Given the description of an element on the screen output the (x, y) to click on. 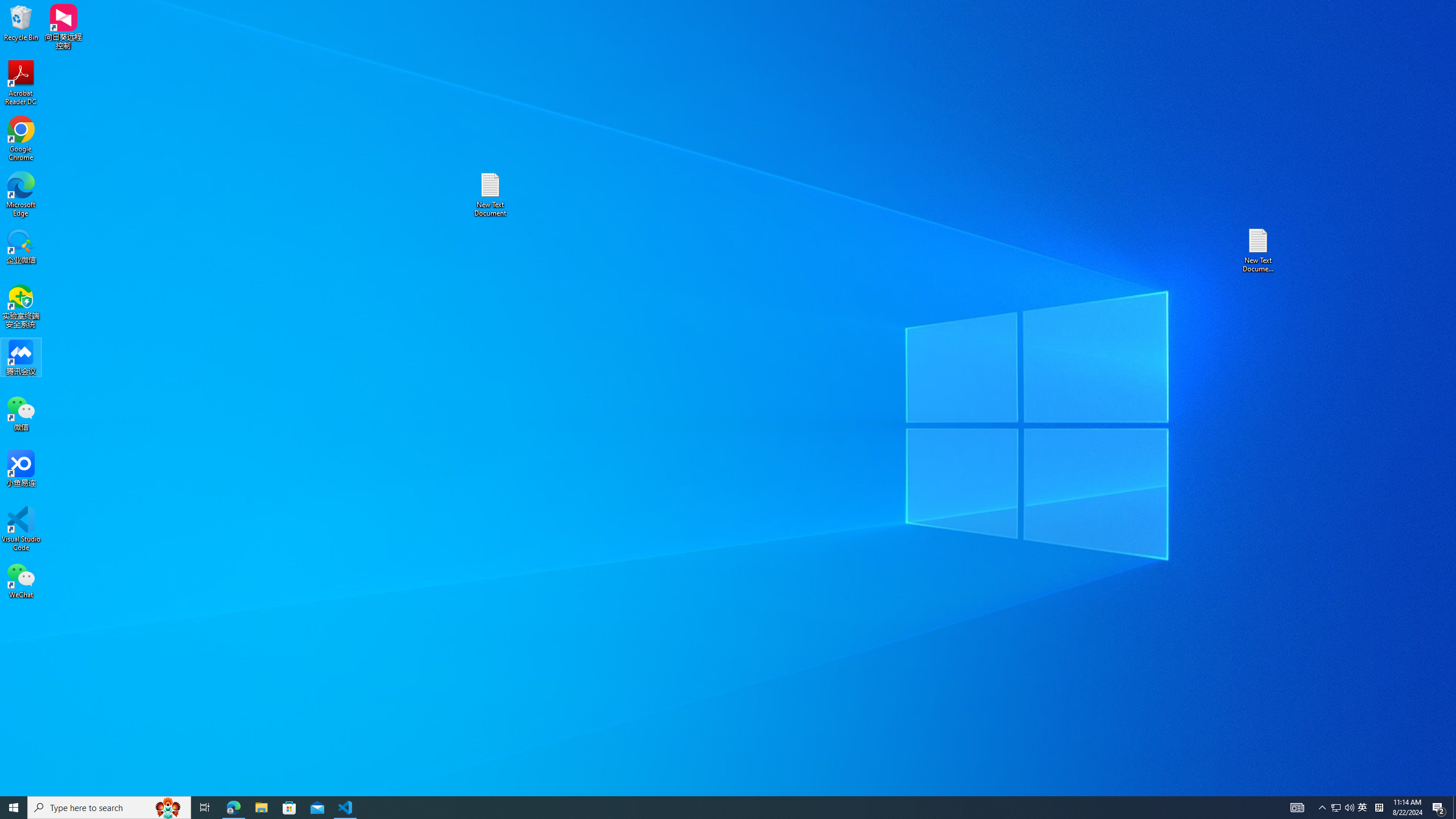
Acrobat Reader DC (21, 82)
Google Chrome (1362, 807)
Microsoft Edge (21, 138)
Running applications (21, 194)
